Given the description of an element on the screen output the (x, y) to click on. 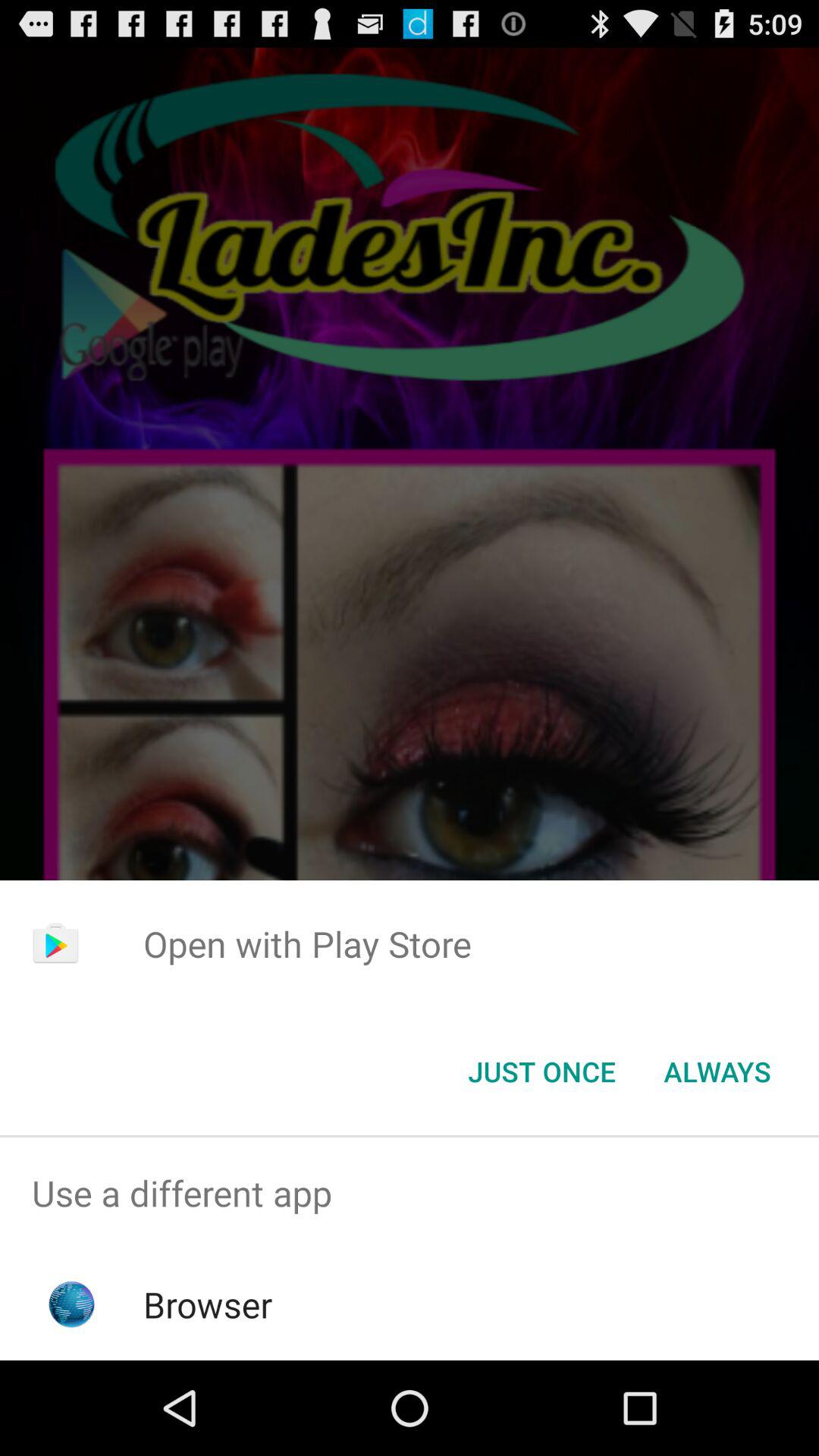
launch the item to the left of always item (541, 1071)
